Given the description of an element on the screen output the (x, y) to click on. 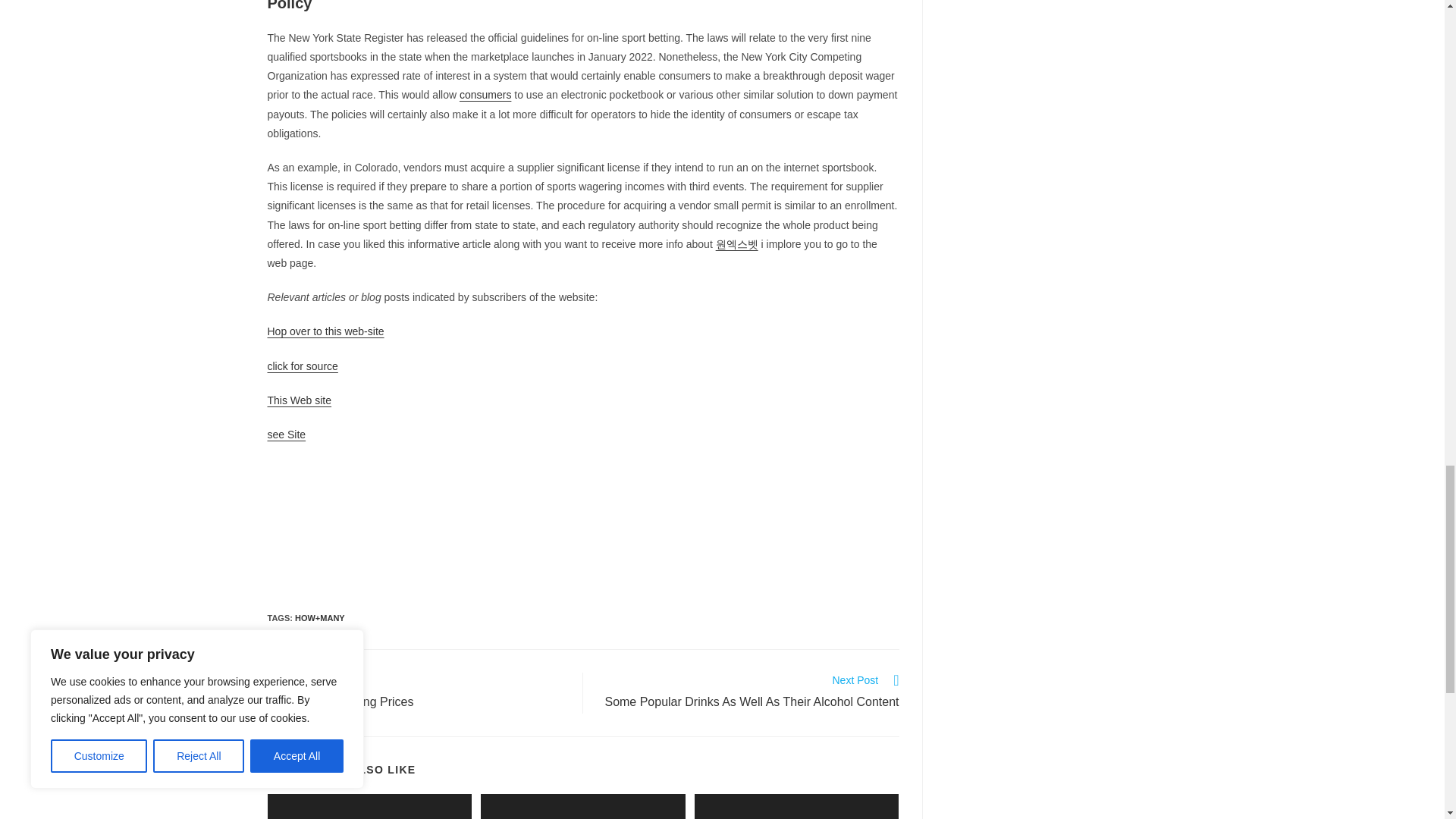
Hop over to this web-site (325, 331)
This Web site (416, 692)
see Site (298, 399)
click for source (285, 434)
consumers (301, 365)
